Given the description of an element on the screen output the (x, y) to click on. 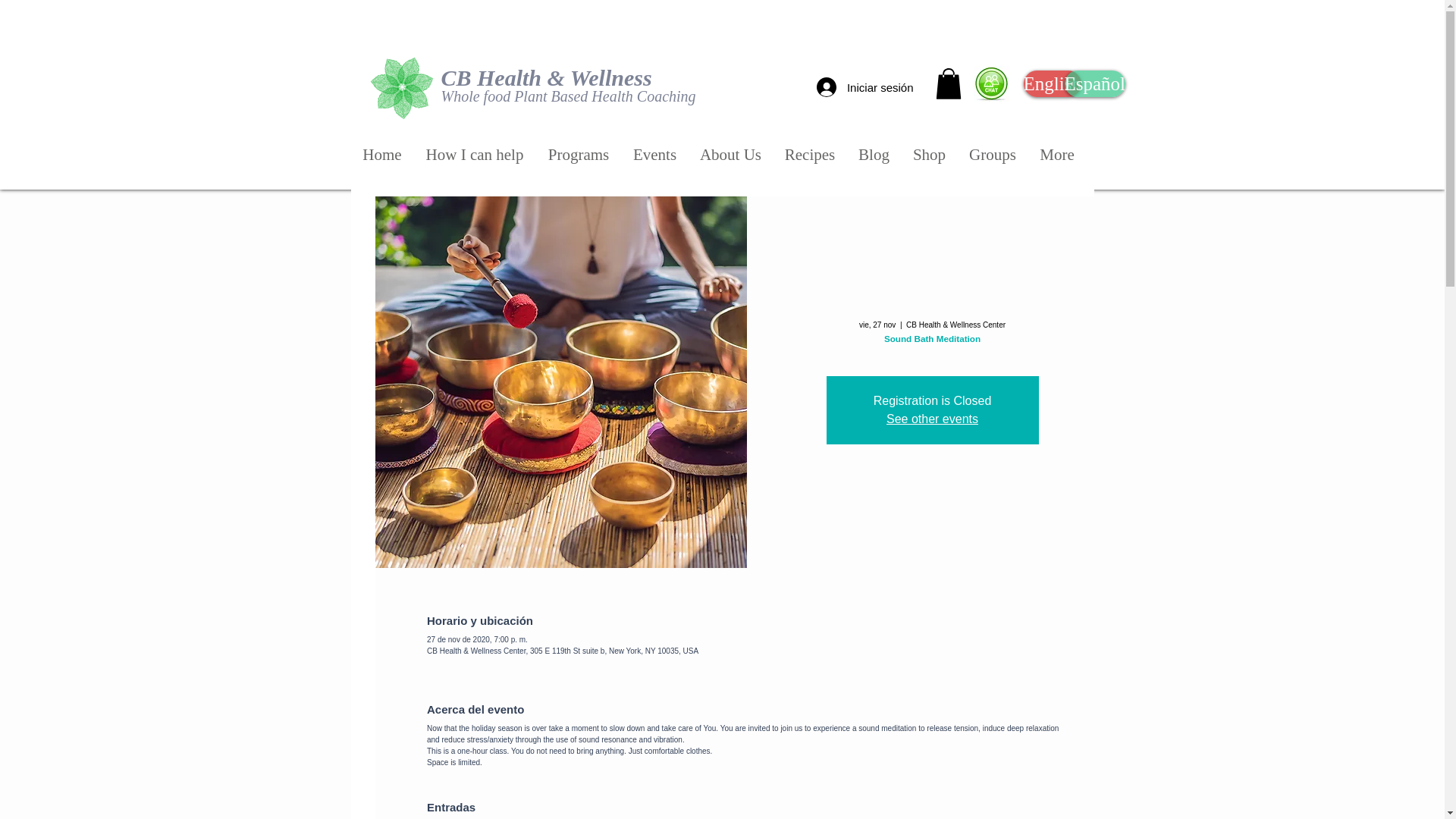
Recipes (810, 154)
English (1052, 83)
Home (381, 154)
Events (654, 154)
About Us (730, 154)
Programs (578, 154)
Whole food Plant Based Health Coaching (568, 95)
How I can help (474, 154)
